Given the description of an element on the screen output the (x, y) to click on. 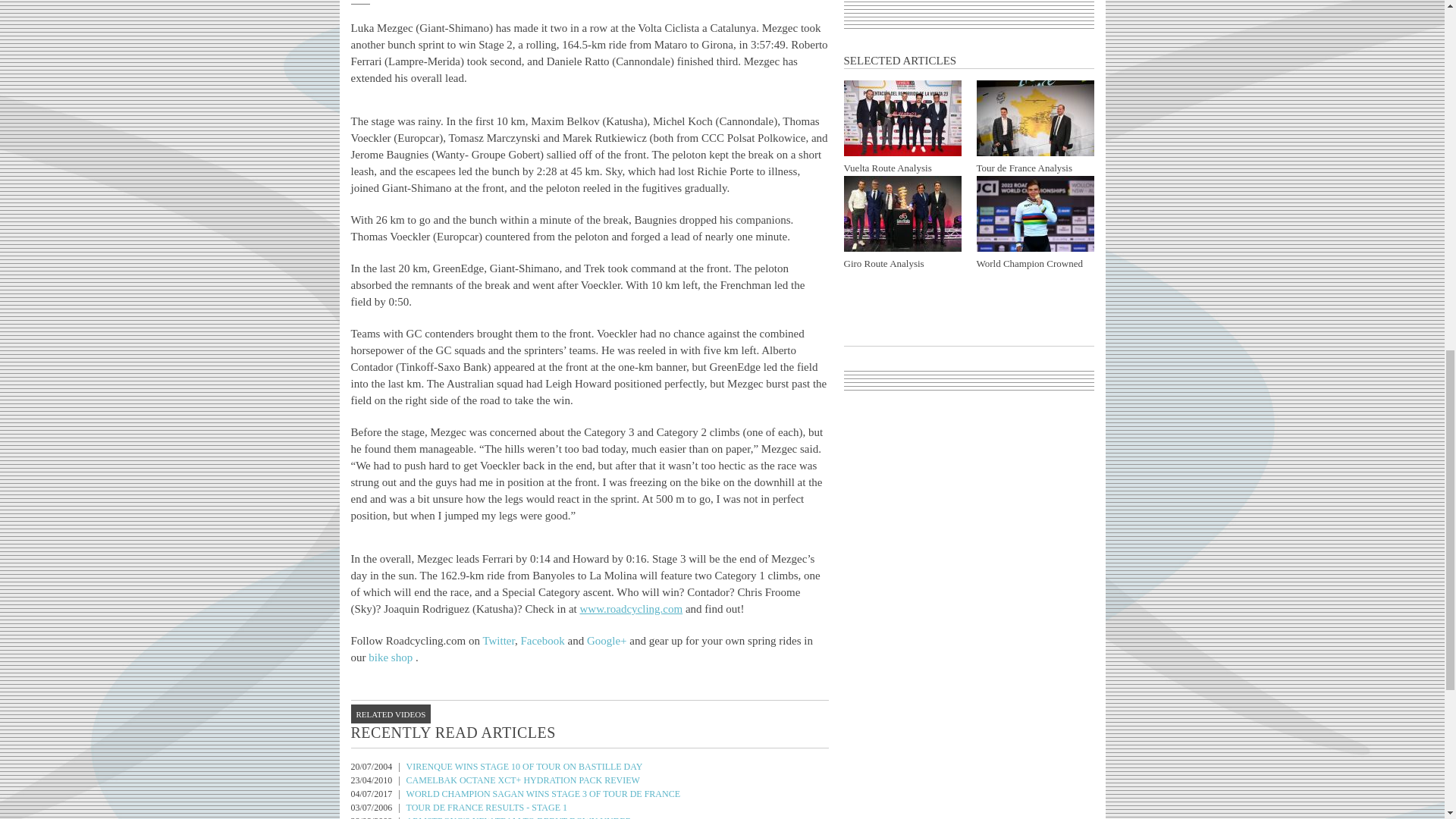
VIRENQUE WINS STAGE 10 OF TOUR ON BASTILLE DAY (524, 766)
ARMSTRONG'S NEW TEAM TO DEBUT DOWN UNDER (518, 817)
WORLD CHAMPION SAGAN WINS STAGE 3 OF TOUR DE FRANCE (542, 793)
RELATED VIDEOS (390, 713)
www.roadcycling.com (630, 608)
Advertisement (969, 9)
Facebook (541, 640)
Twitter (498, 640)
bike shop (391, 657)
TOUR DE FRANCE RESULTS - STAGE 1 (486, 807)
